Given the description of an element on the screen output the (x, y) to click on. 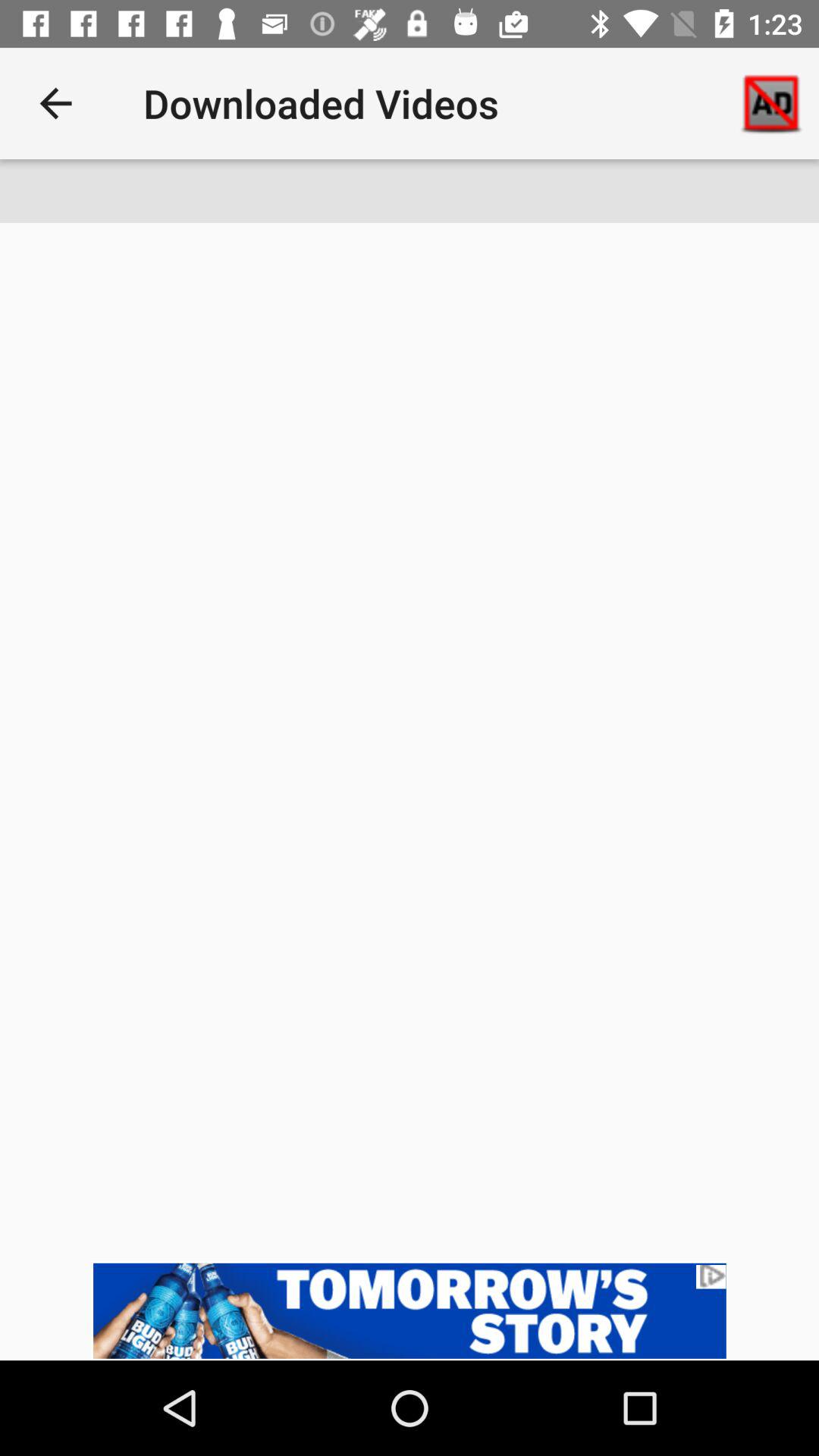
add the option (409, 1310)
